Given the description of an element on the screen output the (x, y) to click on. 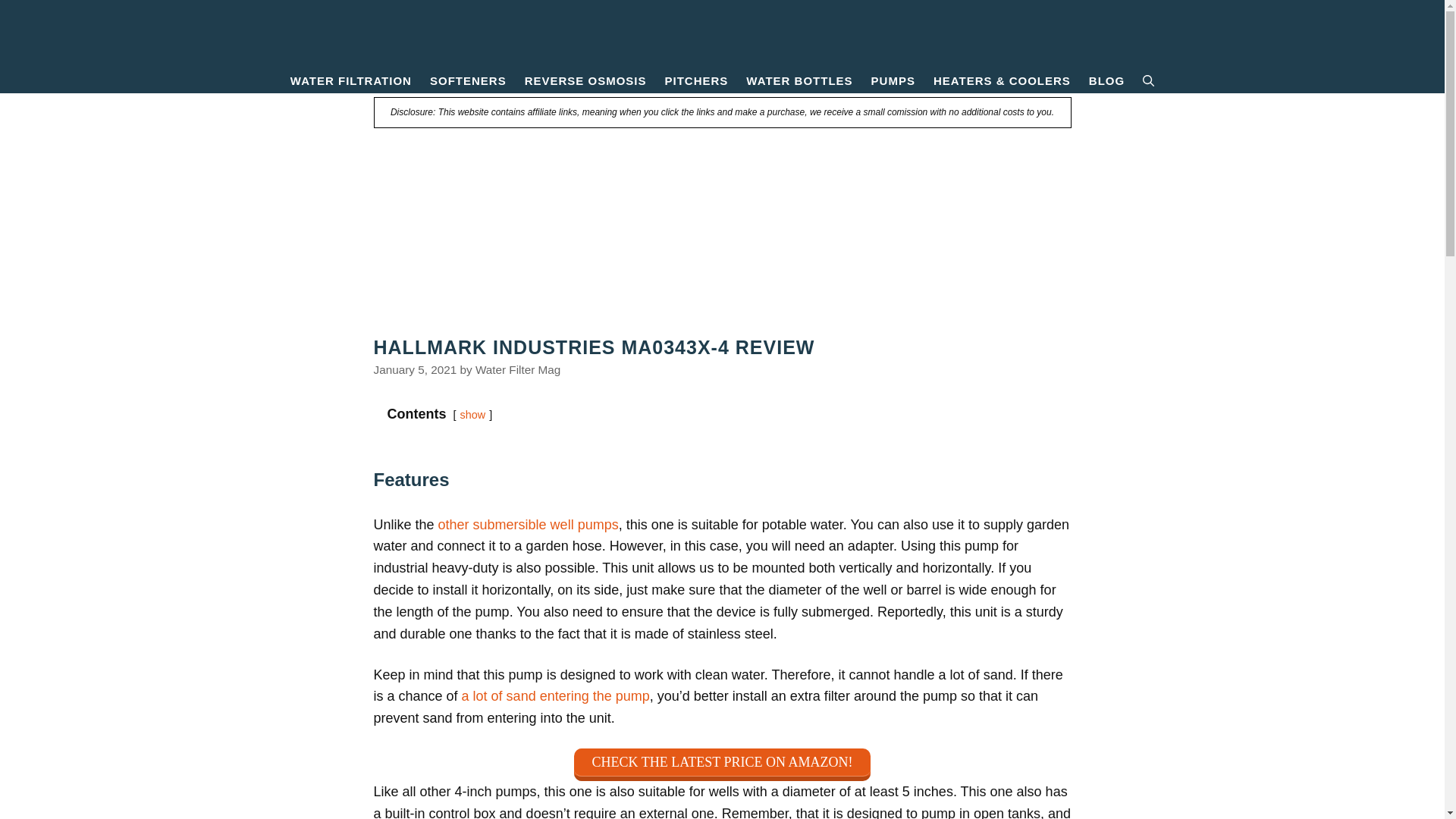
CHECK THE LATEST PRICE ON AMAZON! (721, 764)
REVERSE OSMOSIS (585, 80)
PUMPS (892, 80)
BLOG (1107, 80)
WATER BOTTLES (798, 80)
show (473, 414)
Water Filter Mag (721, 32)
View all posts by Water Filter Mag (518, 369)
WATER FILTRATION (350, 80)
PITCHERS (697, 80)
